Given the description of an element on the screen output the (x, y) to click on. 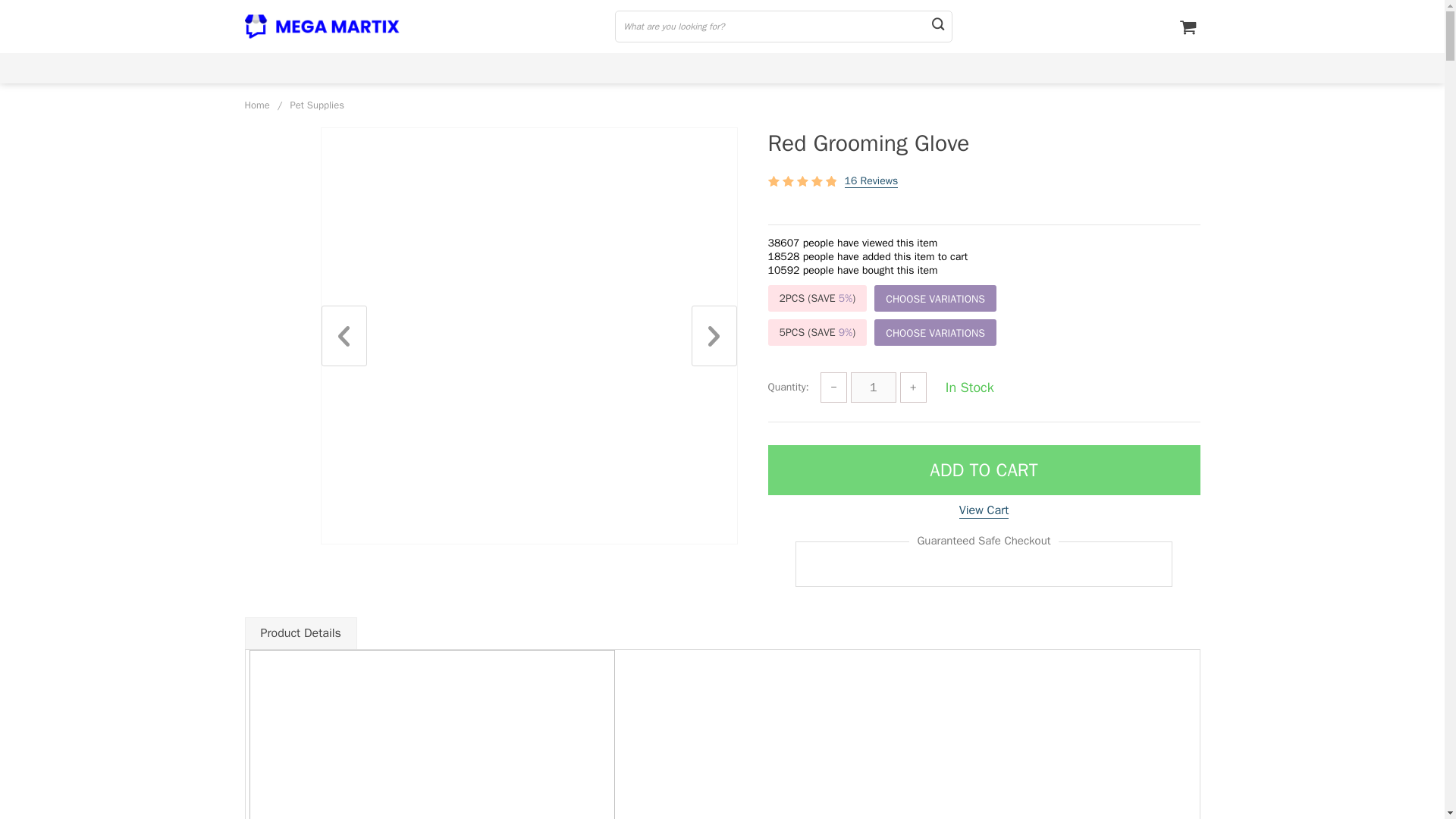
Pet Supplies (316, 104)
1 (873, 387)
ADD TO CART (983, 470)
Home (256, 105)
1-min - 2021-08-24T120126.579 (431, 734)
